Given the description of an element on the screen output the (x, y) to click on. 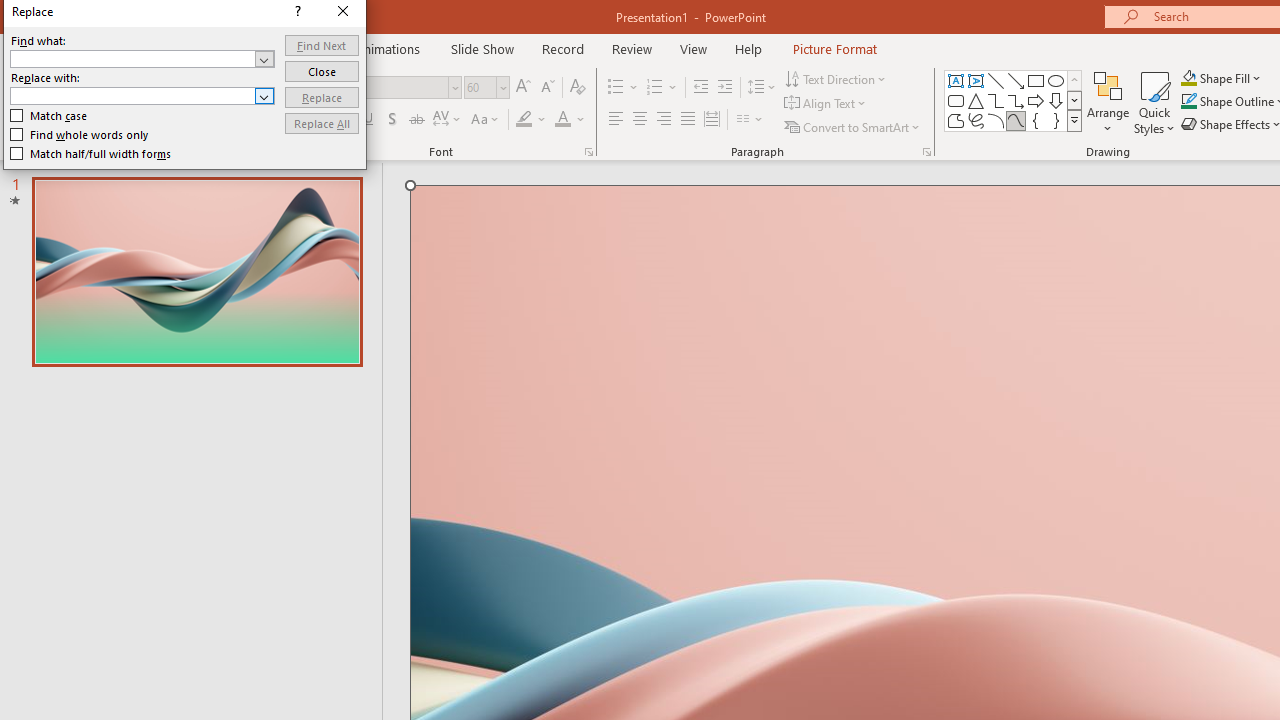
Curve (1016, 120)
Text Direction (836, 78)
Columns (750, 119)
Arrow: Down (1055, 100)
Match half/full width forms (91, 154)
